Given the description of an element on the screen output the (x, y) to click on. 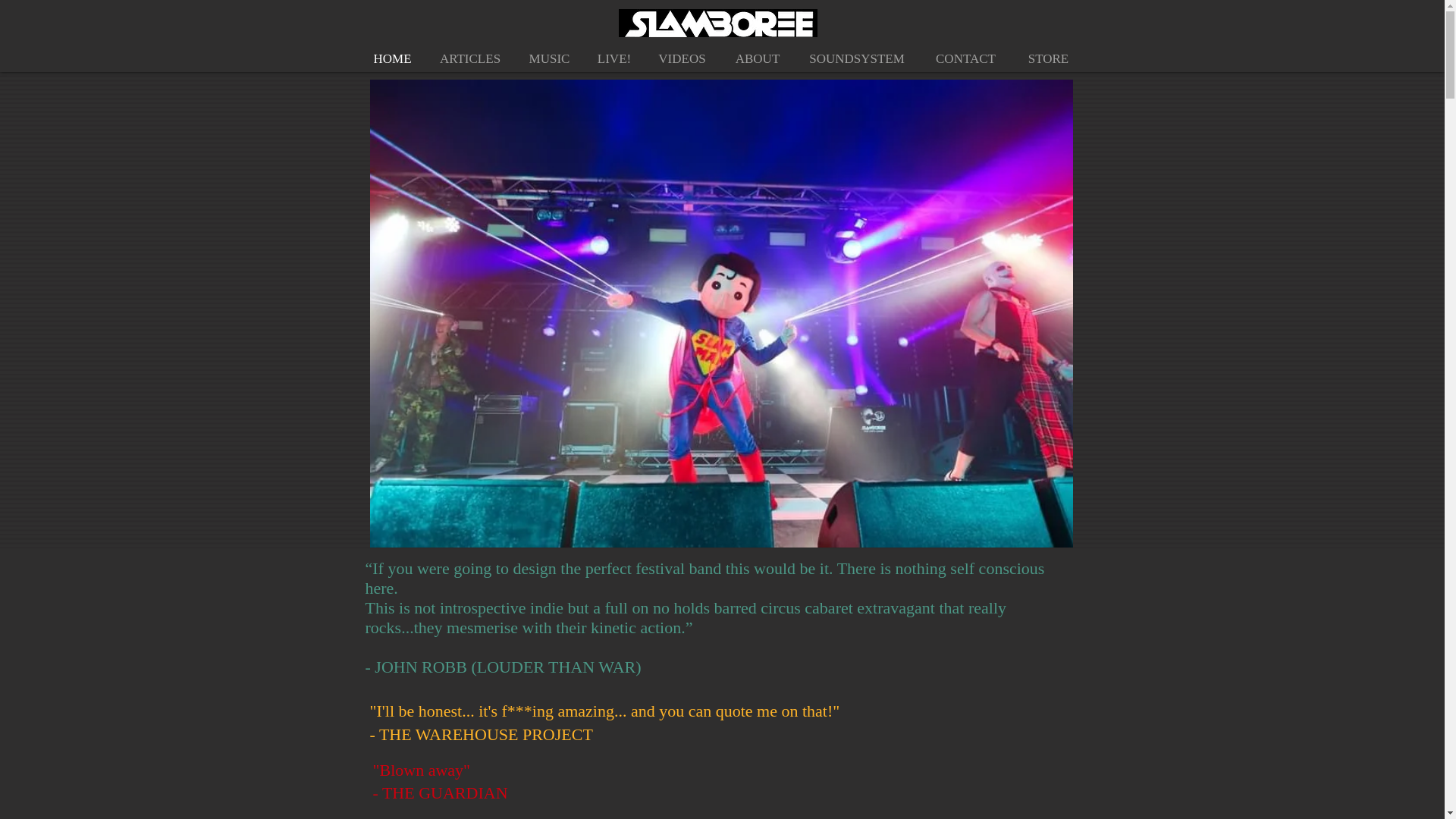
MUSIC (548, 58)
STORE (1048, 58)
LIVE! (613, 58)
HOME (392, 58)
ARTICLES (470, 58)
CONTACT (965, 58)
SOUNDSYSTEM (856, 58)
ABOUT (757, 58)
VIDEOS (682, 58)
